Given the description of an element on the screen output the (x, y) to click on. 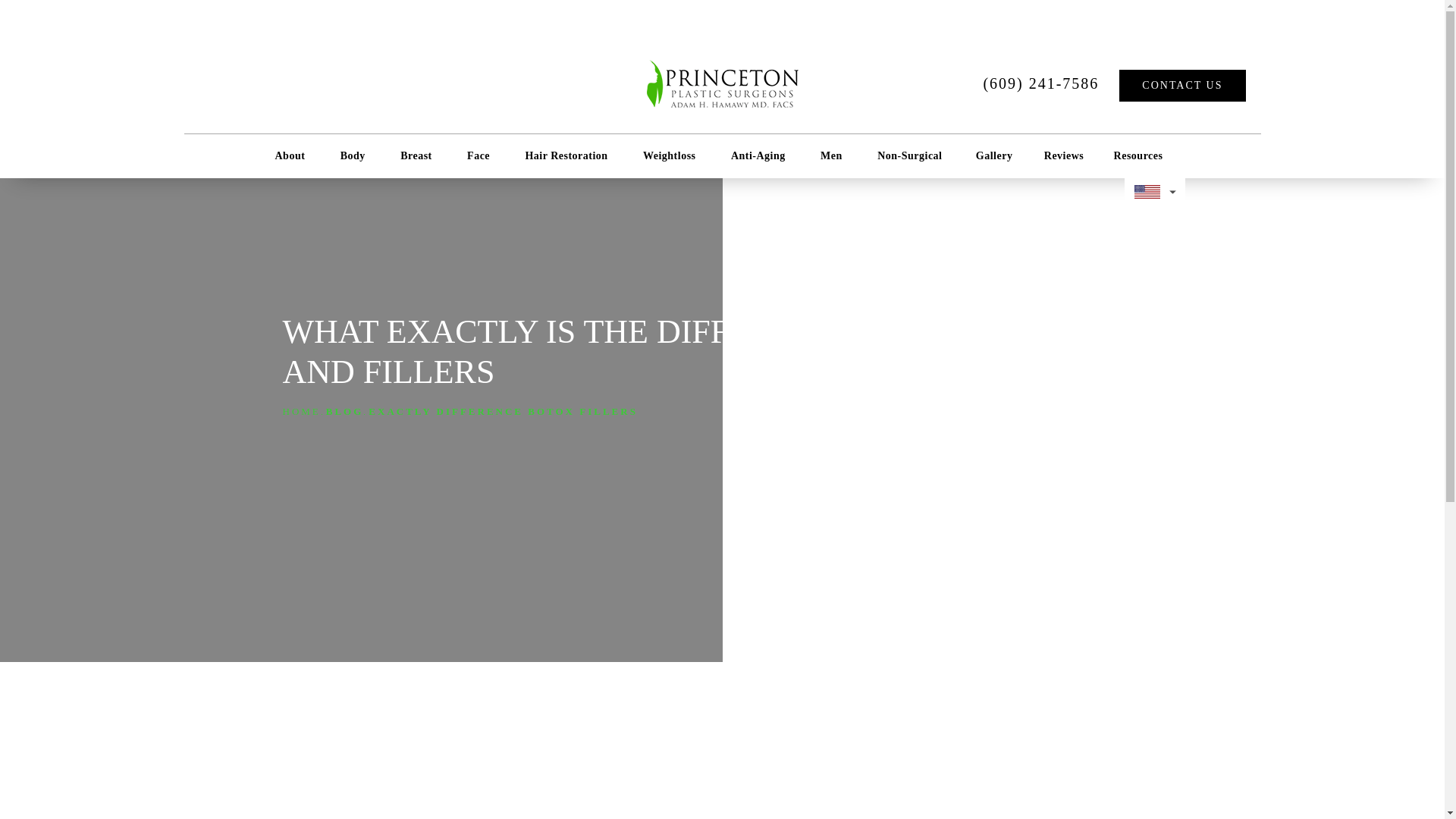
CONTACT US (1181, 85)
Breast (419, 155)
Body (356, 155)
About (292, 155)
